Given the description of an element on the screen output the (x, y) to click on. 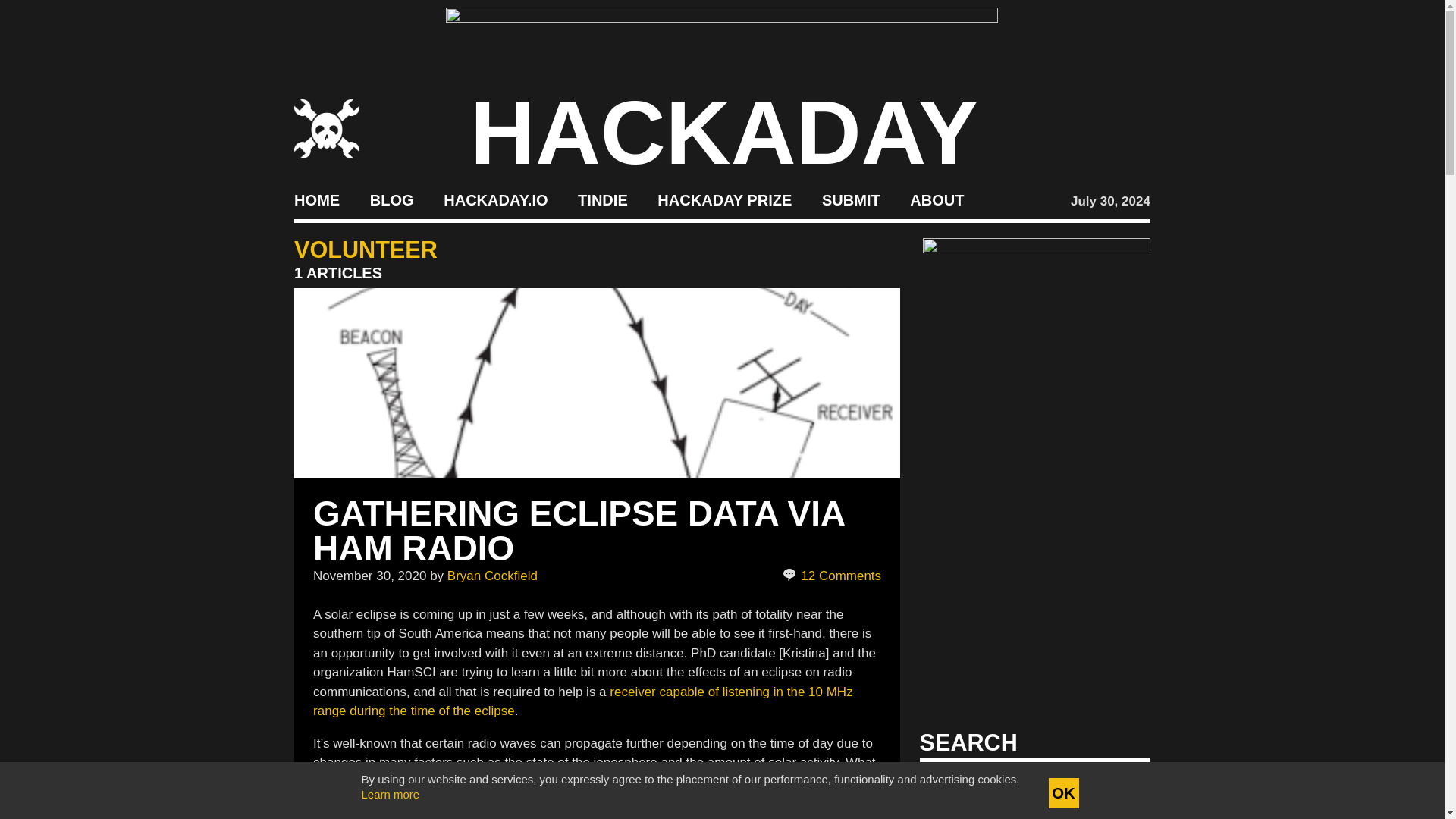
Bryan Cockfield (491, 575)
Search (1115, 787)
HACKADAY (724, 131)
TINDIE (602, 200)
SUBMIT (851, 200)
Search (1115, 787)
BLOG (391, 200)
HOME (316, 200)
HACKADAY.IO (495, 200)
November 30, 2020 - 4:00 pm (369, 575)
HACKADAY PRIZE (725, 200)
GATHERING ECLIPSE DATA VIA HAM RADIO (578, 530)
Posts by Bryan Cockfield (491, 575)
November 30, 2020 (369, 575)
